Given the description of an element on the screen output the (x, y) to click on. 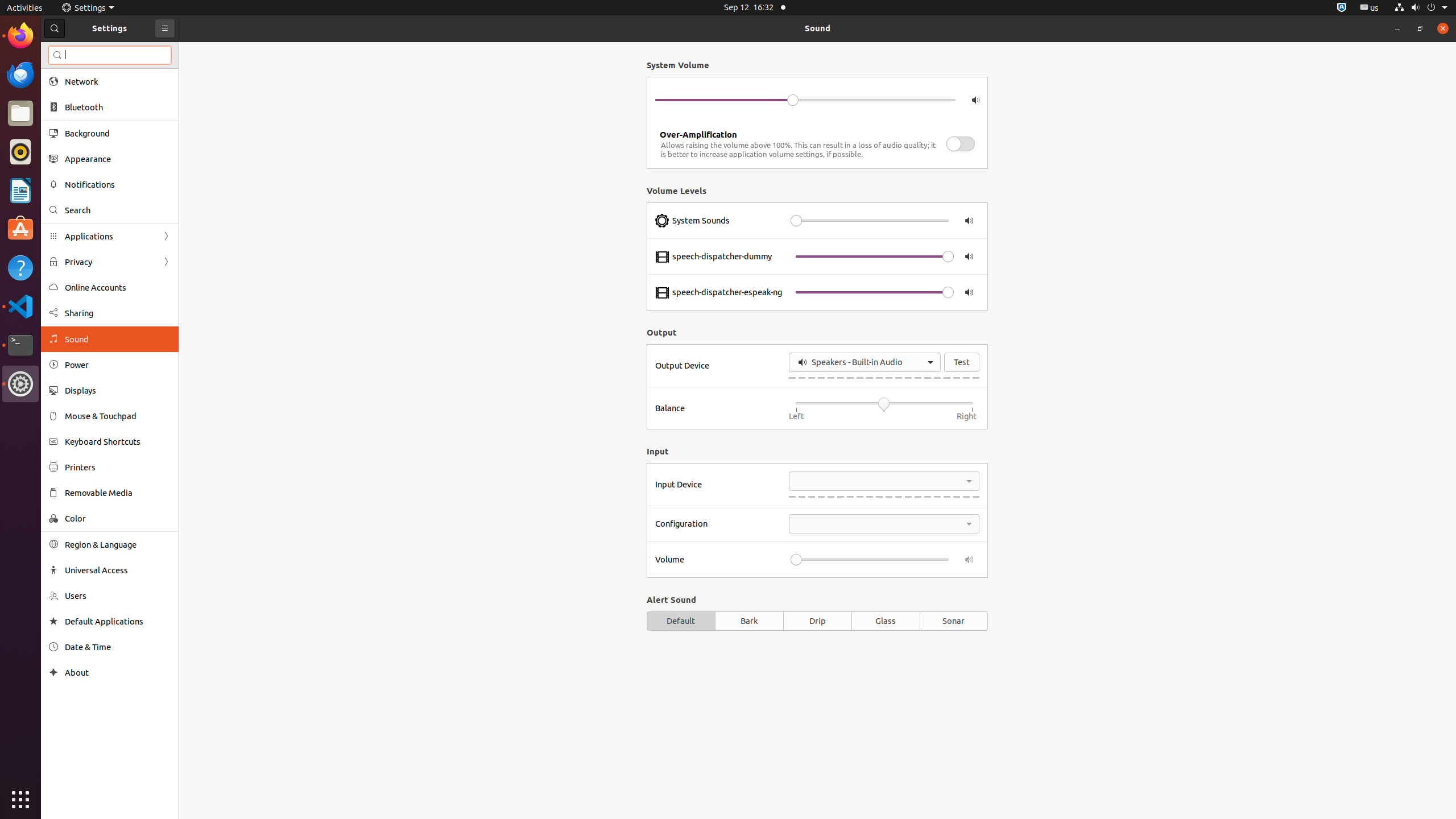
Activities Element type: label (24, 7)
Speakers - Built-in Audio Element type: combo-box (864, 361)
speech-dispatcher-espeak-ng Element type: label (727, 292)
